Given the description of an element on the screen output the (x, y) to click on. 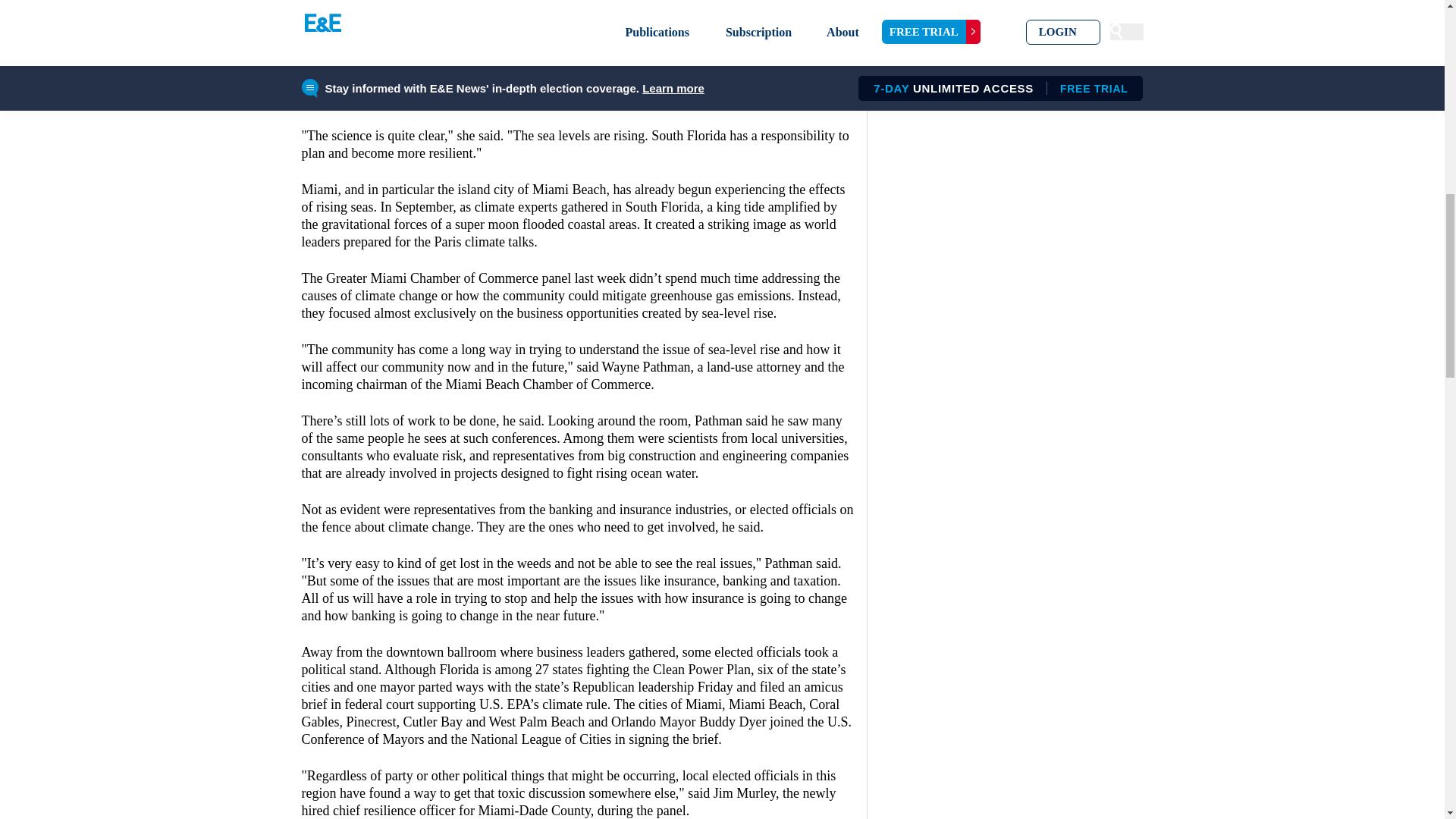
3rd party ad content (577, 45)
